Given the description of an element on the screen output the (x, y) to click on. 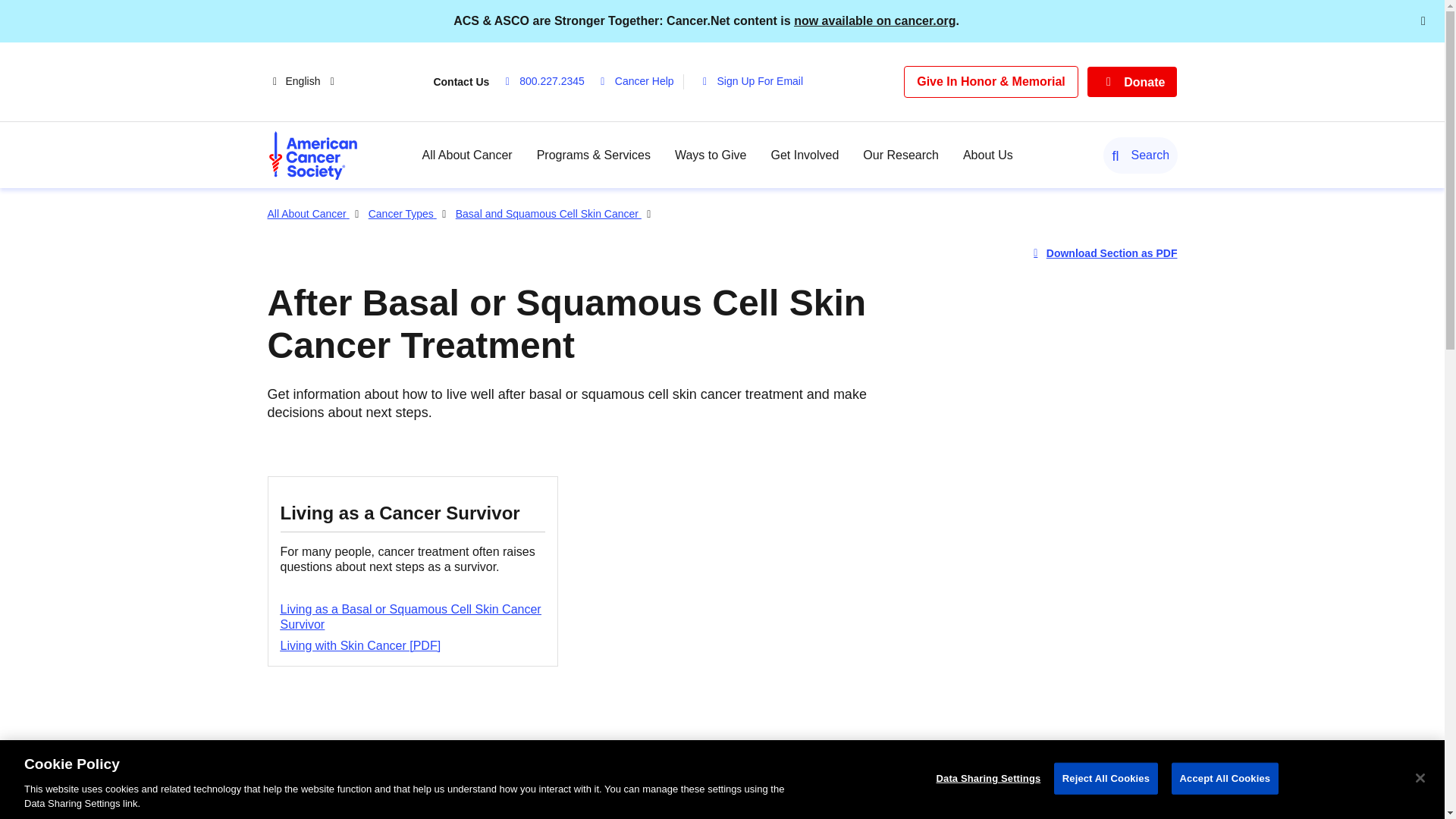
Living as a Basal or Squamous Cell Skin Cancer Survivor (411, 616)
Donate (1132, 81)
Sign Up For Email (753, 81)
About Basal and Squamous Cell Skin Cancer (379, 813)
now available on cancer.org (874, 20)
800.227.2345 (545, 81)
English (312, 81)
Early Detection, Diagnosis, and Staging (619, 813)
Cancer Help (638, 81)
All About Cancer (467, 154)
After Treatment (829, 813)
